Given the description of an element on the screen output the (x, y) to click on. 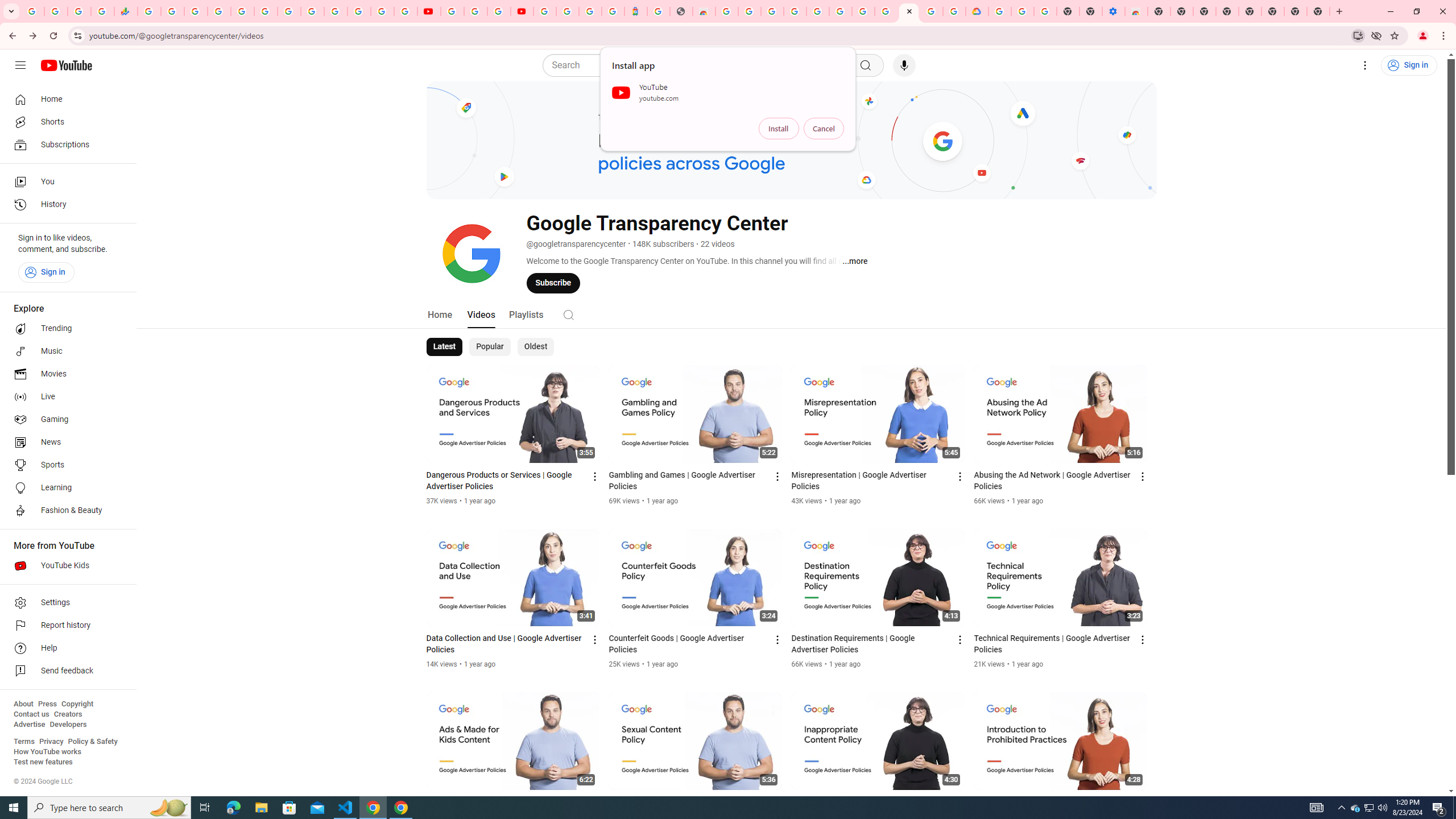
Install YouTube (1358, 35)
Create your Google Account (749, 11)
Settings (1365, 65)
Live (64, 396)
History (64, 204)
New Tab (1318, 11)
YouTube (312, 11)
Gaming (64, 419)
Shorts (64, 121)
Sign in - Google Accounts (335, 11)
